Given the description of an element on the screen output the (x, y) to click on. 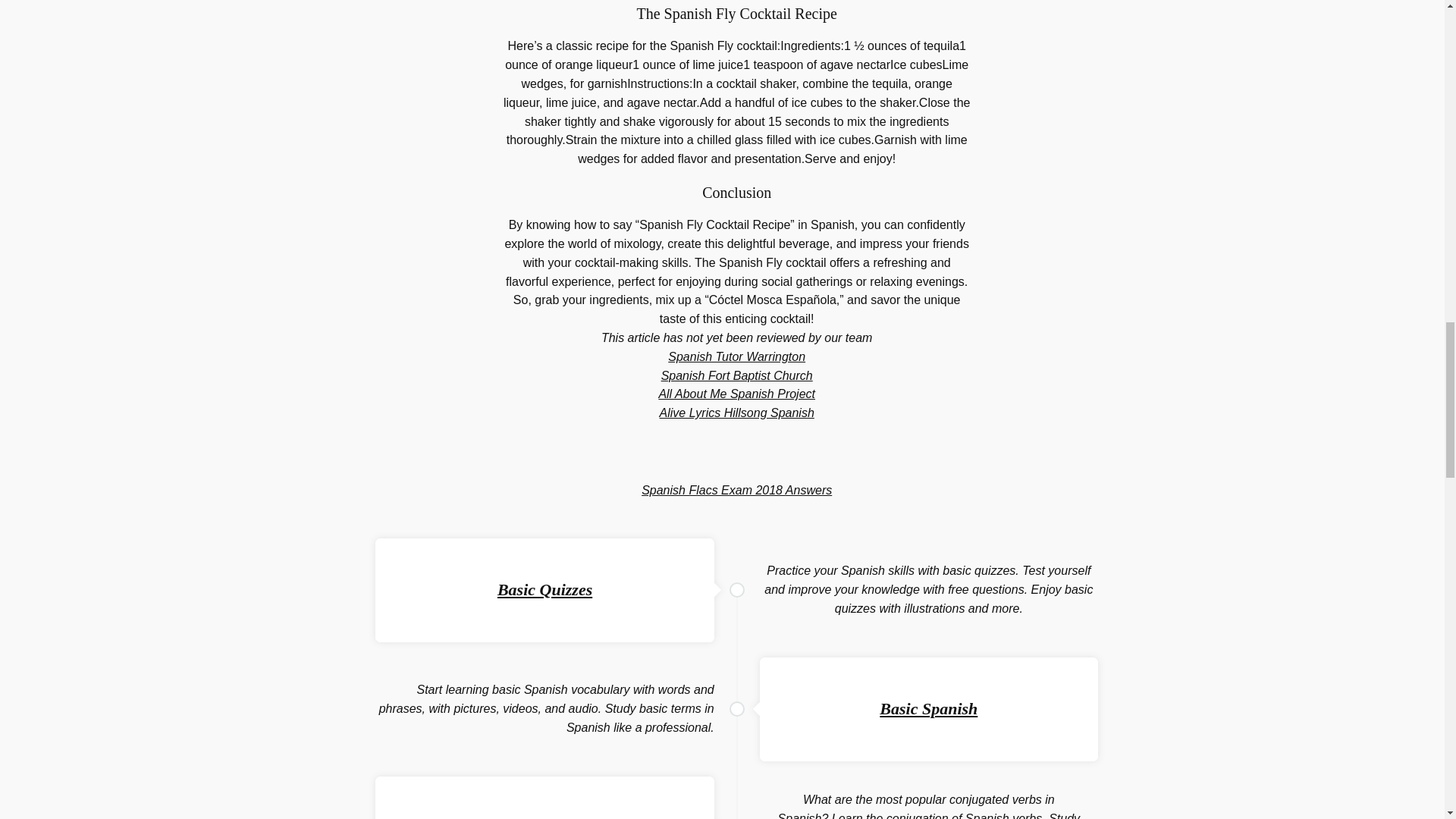
Basic Spanish (927, 708)
Spanish Fort Baptist Church (736, 375)
Alive Lyrics Hillsong Spanish (736, 412)
Spanish Tutor Warrington (736, 356)
Basic Quizzes (544, 588)
Spanish Flacs Exam 2018 Answers (736, 490)
All About Me Spanish Project (736, 393)
